Given the description of an element on the screen output the (x, y) to click on. 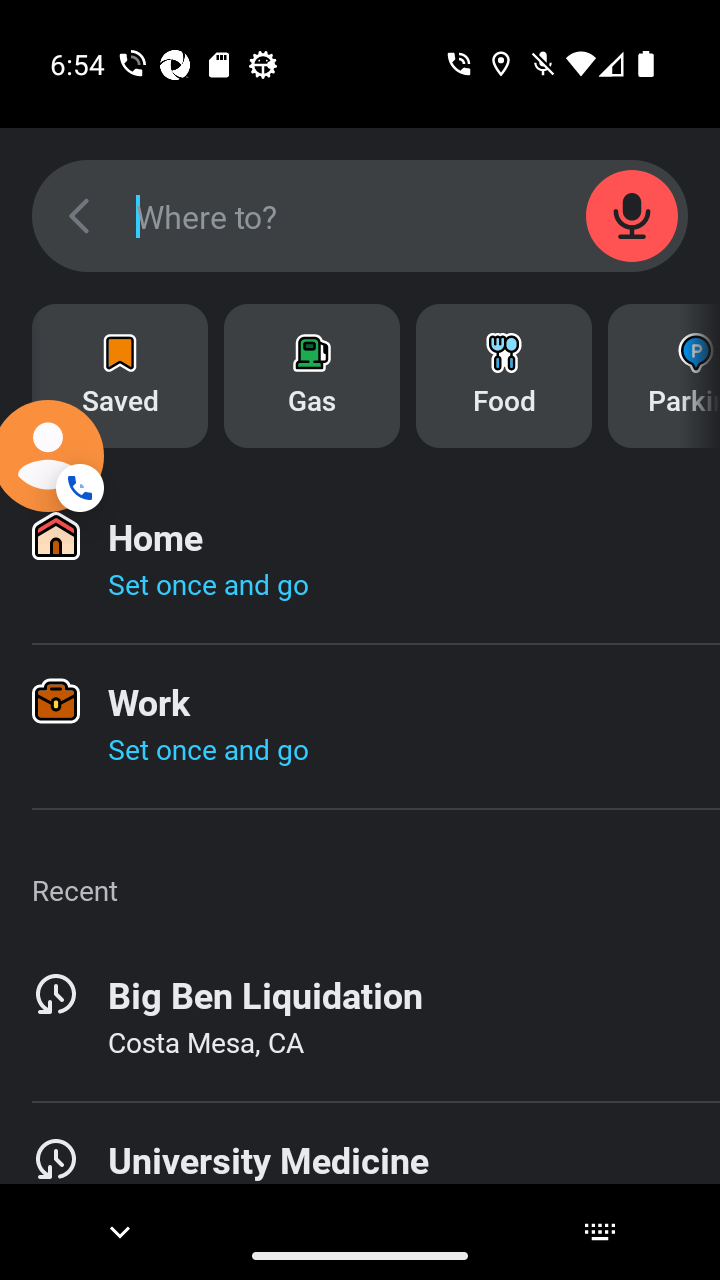
SEARCH_SCREEN_SEARCH_FIELD Where to? (359, 215)
Saved (119, 376)
Gas (311, 376)
Food (503, 376)
Parking (663, 376)
Home Set once and go (360, 561)
Work Set once and go (360, 726)
Big Ben Liquidation Costa Mesa, CA (360, 1019)
